Given the description of an element on the screen output the (x, y) to click on. 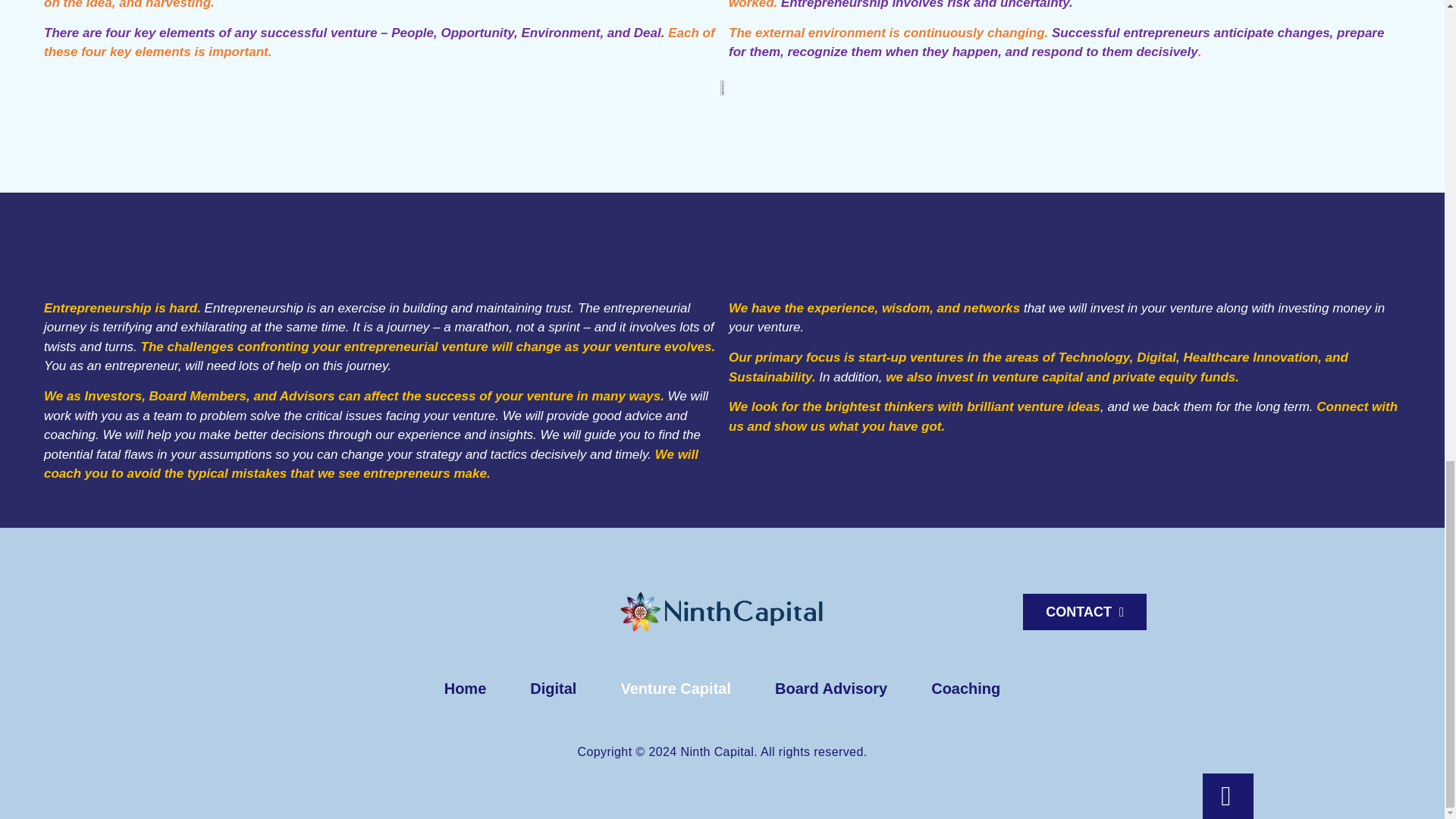
Board Advisory (830, 689)
Coaching (965, 689)
CONTACT (1085, 611)
Venture Capital (675, 689)
Digital (553, 689)
Home (465, 689)
